Given the description of an element on the screen output the (x, y) to click on. 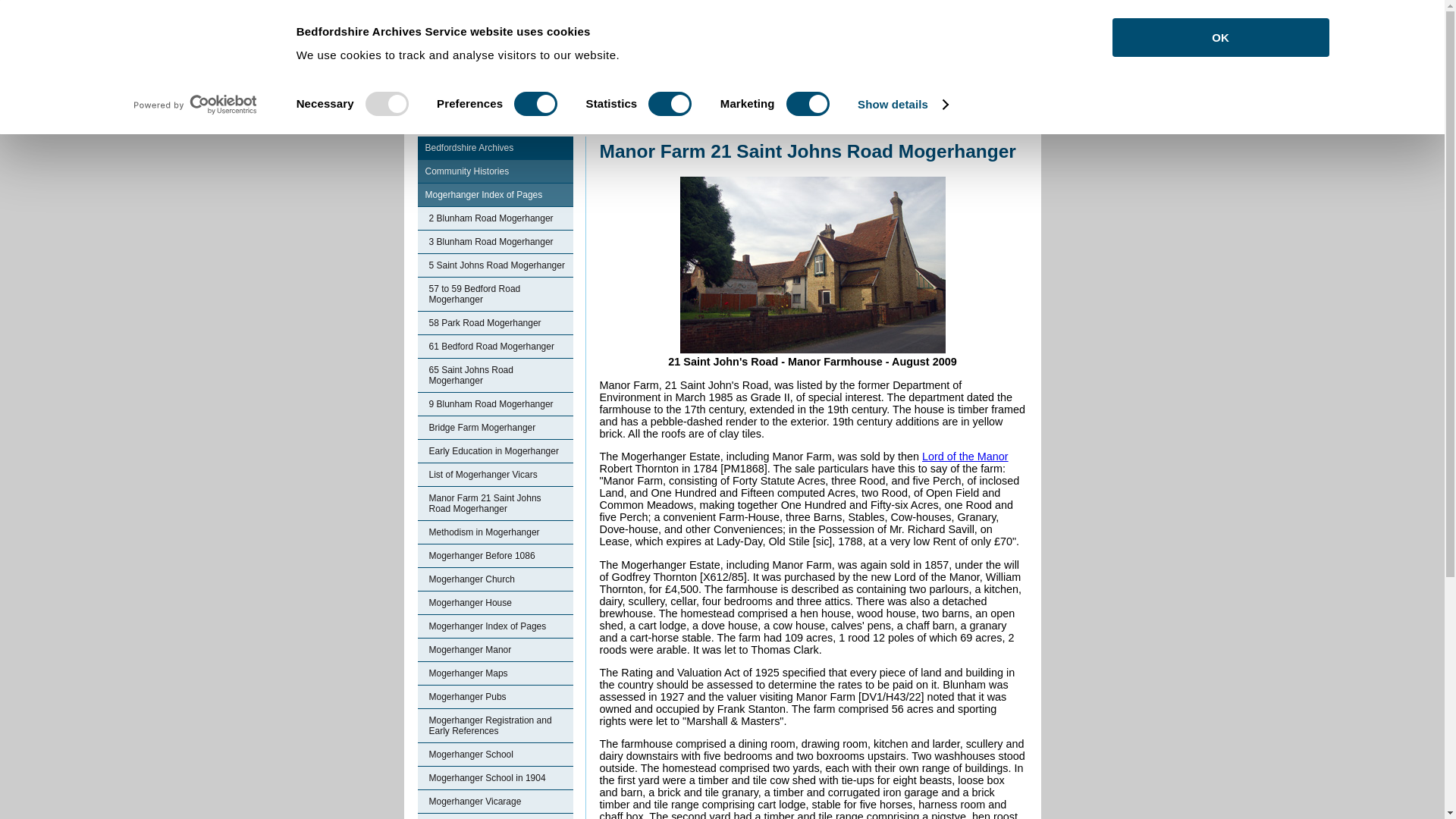
2 Blunham Road Mogerhanger (494, 218)
Cookies on the Archives and Records Service website (476, 22)
3 Blunham Road Mogerhanger (494, 241)
Mogerhanger Index of Pages (494, 195)
Go to Community Histories from here (668, 128)
Home (609, 128)
Enter Keywords (902, 23)
Go to Mogerhanger from here (740, 128)
5 Saint Johns Road Mogerhanger (494, 264)
Community Histories (668, 128)
Search (1003, 23)
OK (1219, 37)
Mogerhanger (740, 128)
Cookies (476, 22)
Search (1003, 23)
